Given the description of an element on the screen output the (x, y) to click on. 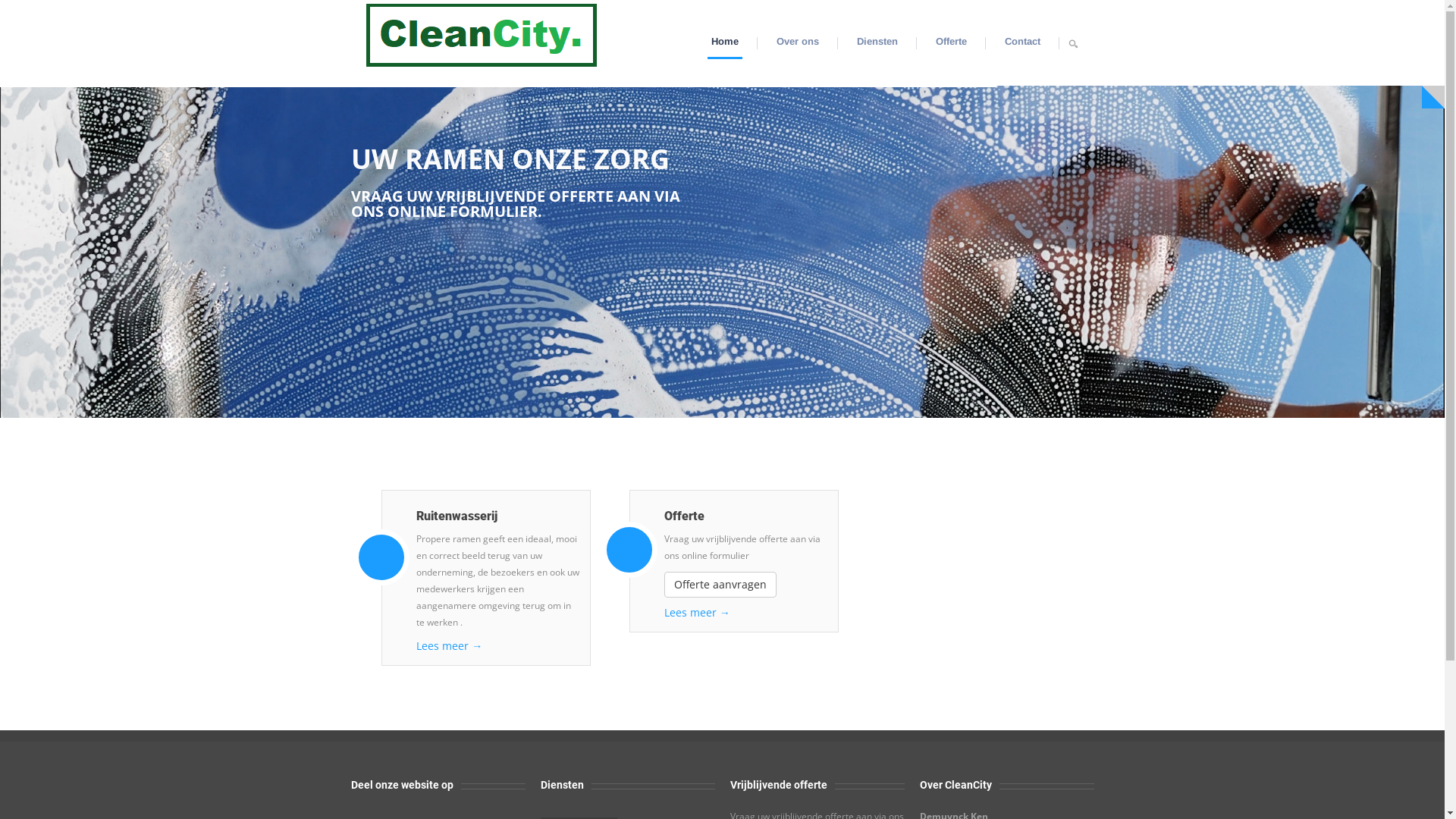
Over ons Element type: text (797, 42)
Offerte Element type: text (950, 42)
Overslaan en naar de inhoud gaan Element type: text (88, 0)
Offerte aanvragen Element type: text (720, 584)
Contact Element type: text (1022, 42)
Diensten Element type: text (877, 42)
Home Element type: text (724, 42)
Home Element type: hover (480, 33)
